Given the description of an element on the screen output the (x, y) to click on. 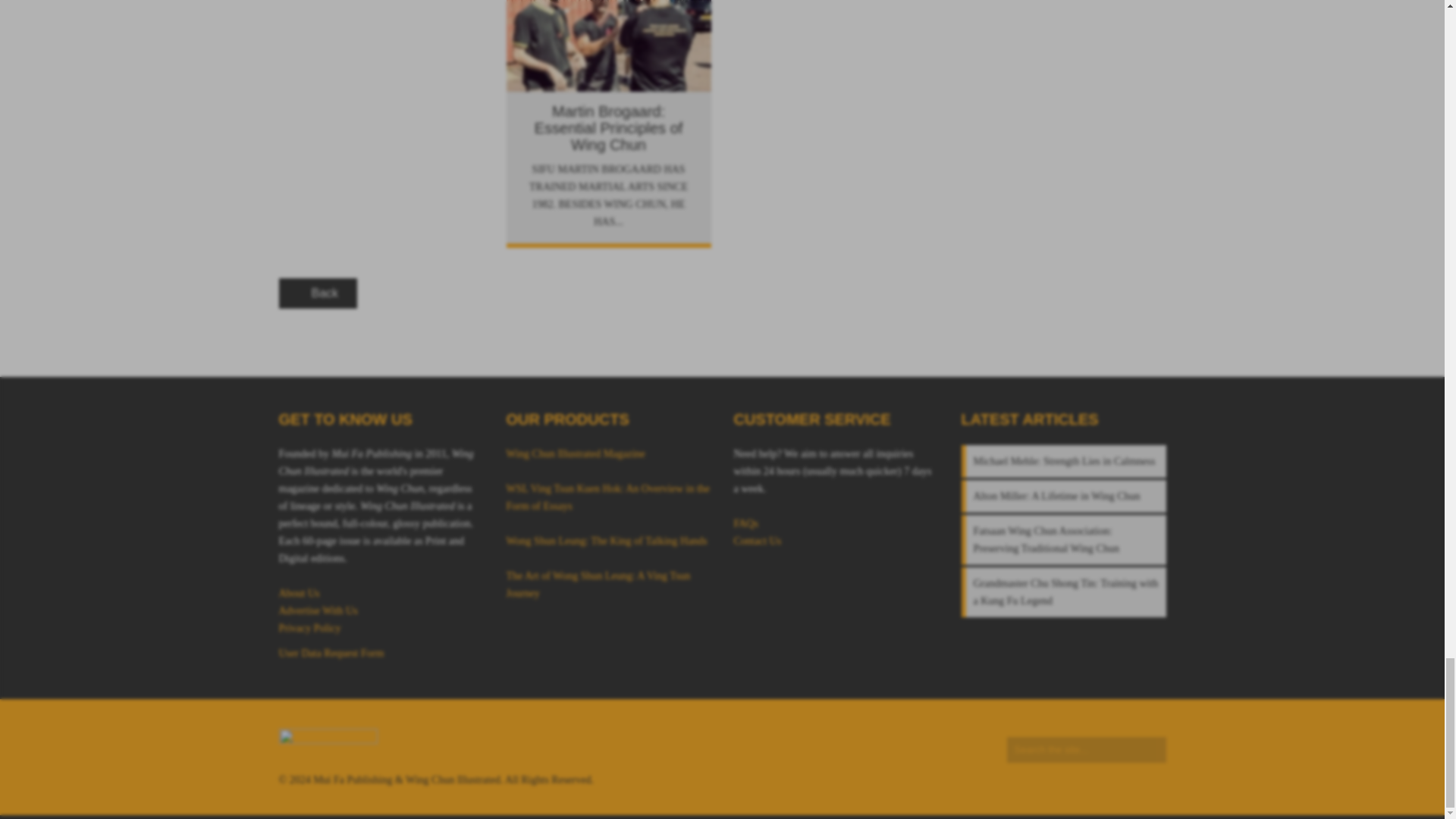
Search the site... (1086, 749)
Search the site... (1086, 749)
Search the site... (1086, 749)
